Given the description of an element on the screen output the (x, y) to click on. 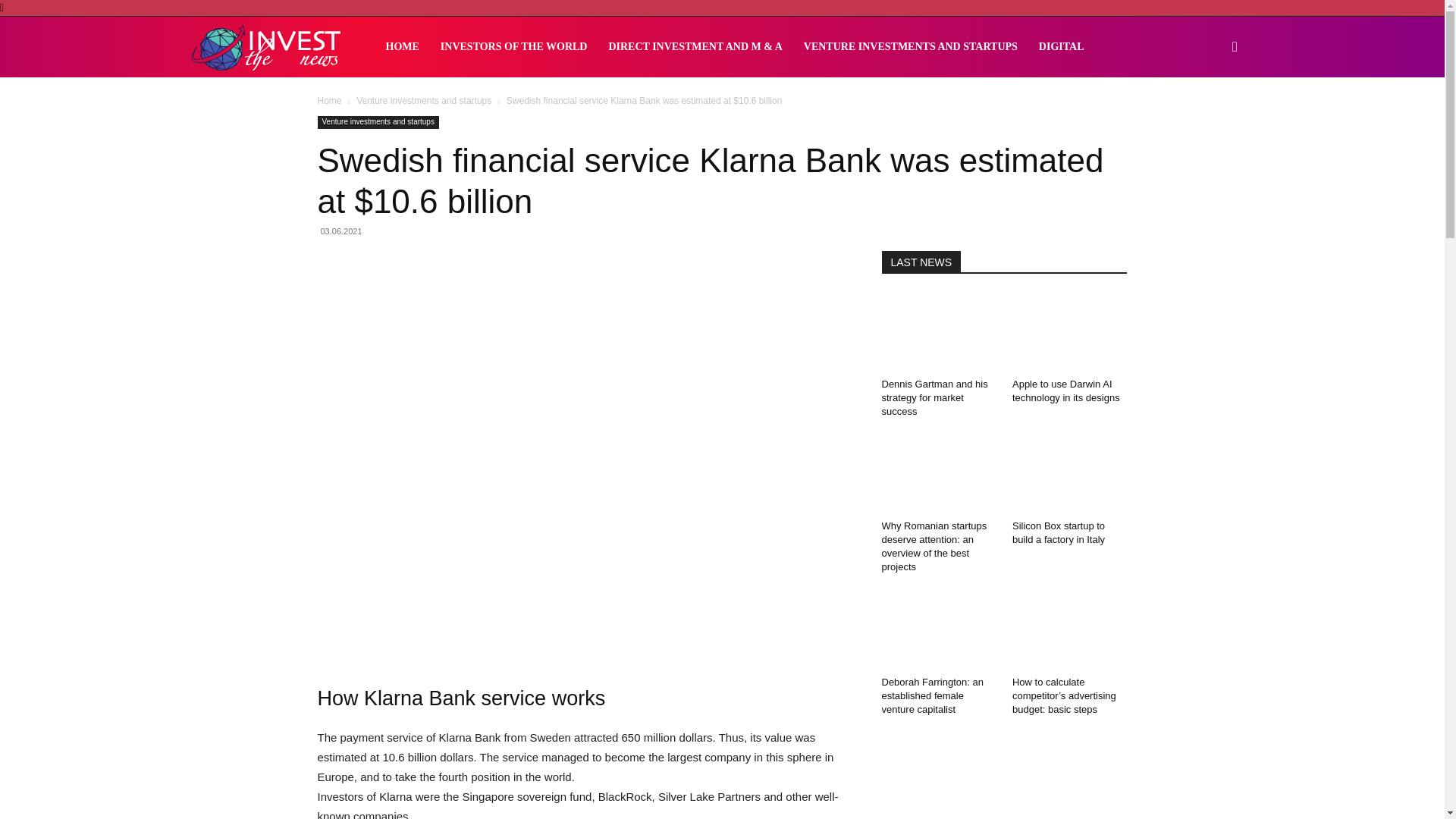
HOME (401, 46)
View all posts in Venture investments and startups (424, 100)
INVESTORS OF THE WORLD (513, 46)
Home (328, 100)
Venture investments and startups (424, 100)
Search (1210, 119)
DIGITAL (1060, 46)
VENTURE INVESTMENTS AND STARTUPS (910, 46)
Venture investments and startups (377, 122)
